Given the description of an element on the screen output the (x, y) to click on. 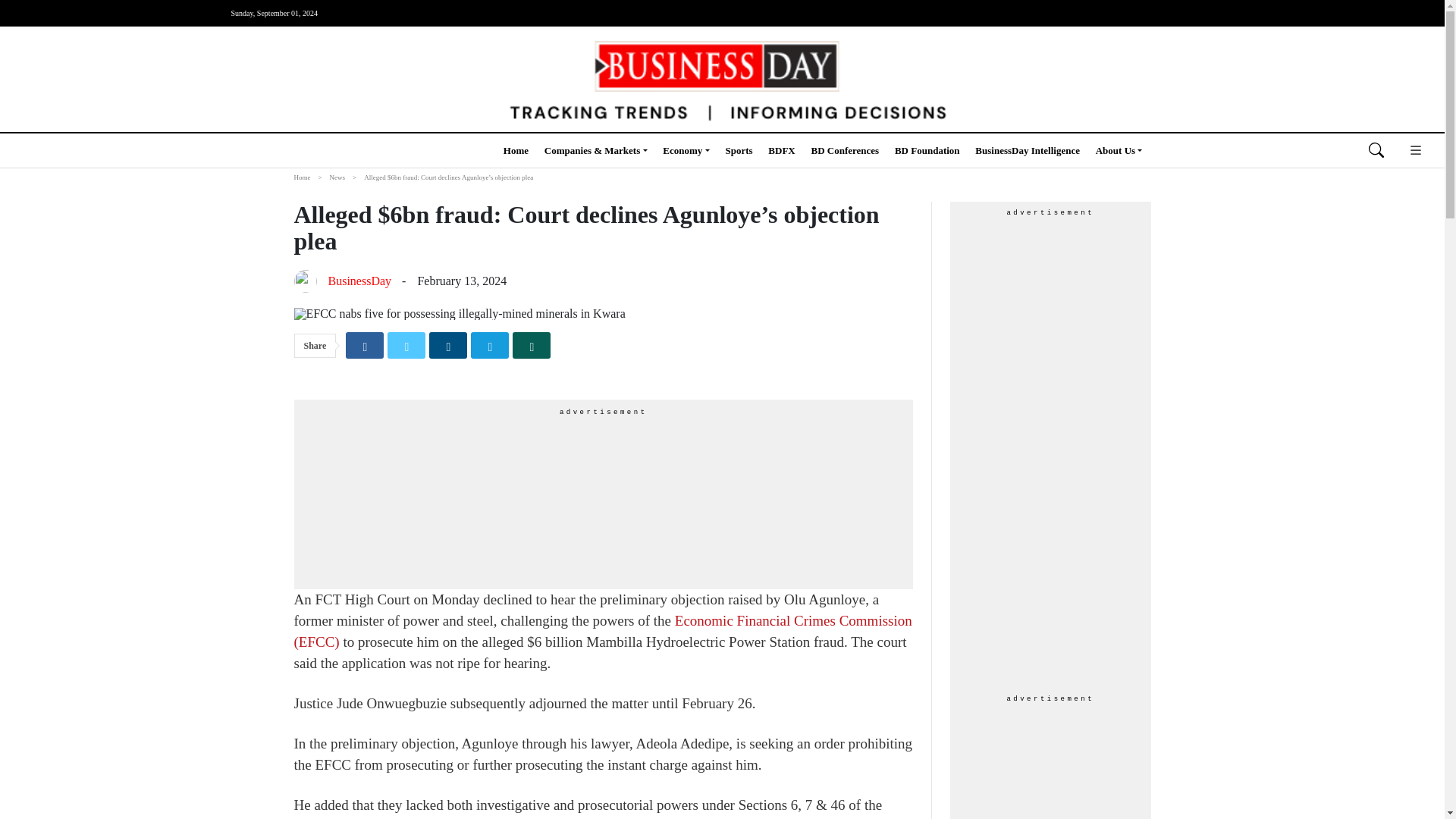
BD Foundation (927, 149)
Economy (685, 149)
BusinessDay Intelligence (1027, 149)
BusinessDay Intelligence (1027, 149)
About Us (1119, 149)
About Us (1119, 149)
Economy (685, 149)
BD Foundation (927, 149)
BD Conferences (844, 149)
BD Conferences (844, 149)
